Given the description of an element on the screen output the (x, y) to click on. 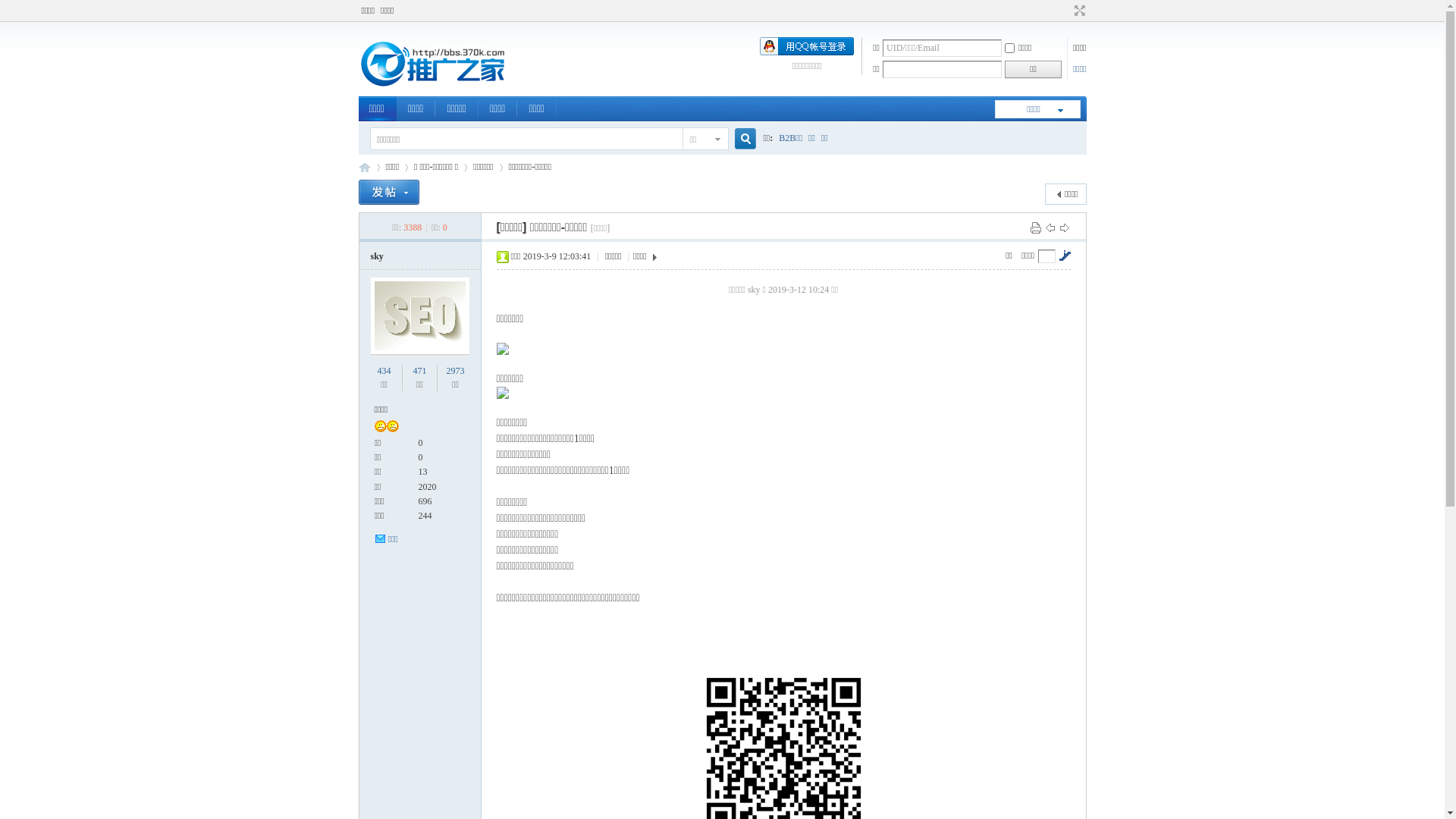
471 Element type: text (419, 370)
2973 Element type: text (454, 370)
434 Element type: text (384, 370)
sky Element type: text (376, 256)
true Element type: text (738, 138)
